Given the description of an element on the screen output the (x, y) to click on. 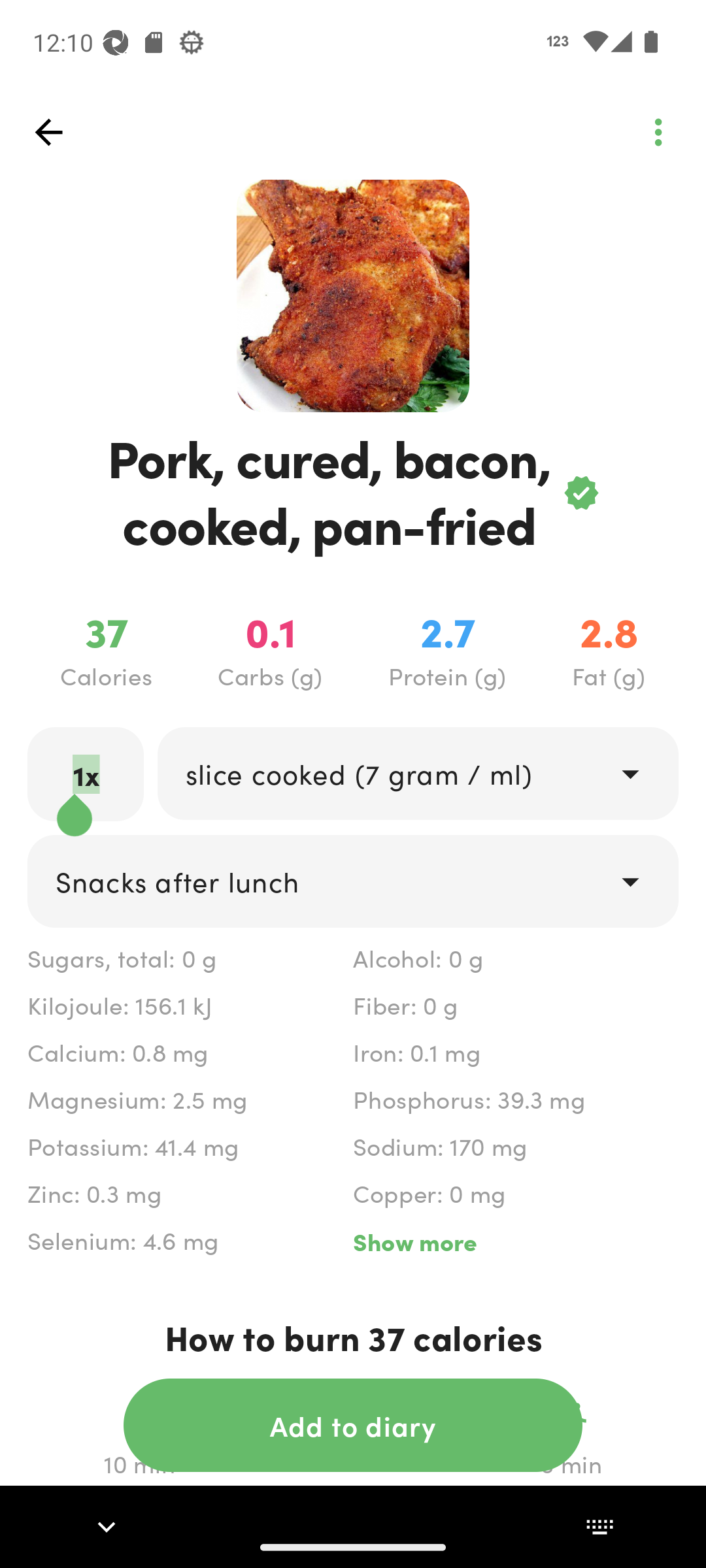
top_left_action (48, 132)
top_left_action (658, 132)
1x labeled_edit_text (85, 774)
drop_down slice cooked (7 gram / ml) (417, 773)
drop_down Snacks after lunch (352, 881)
Show more (515, 1240)
action_button Add to diary (352, 1425)
